Given the description of an element on the screen output the (x, y) to click on. 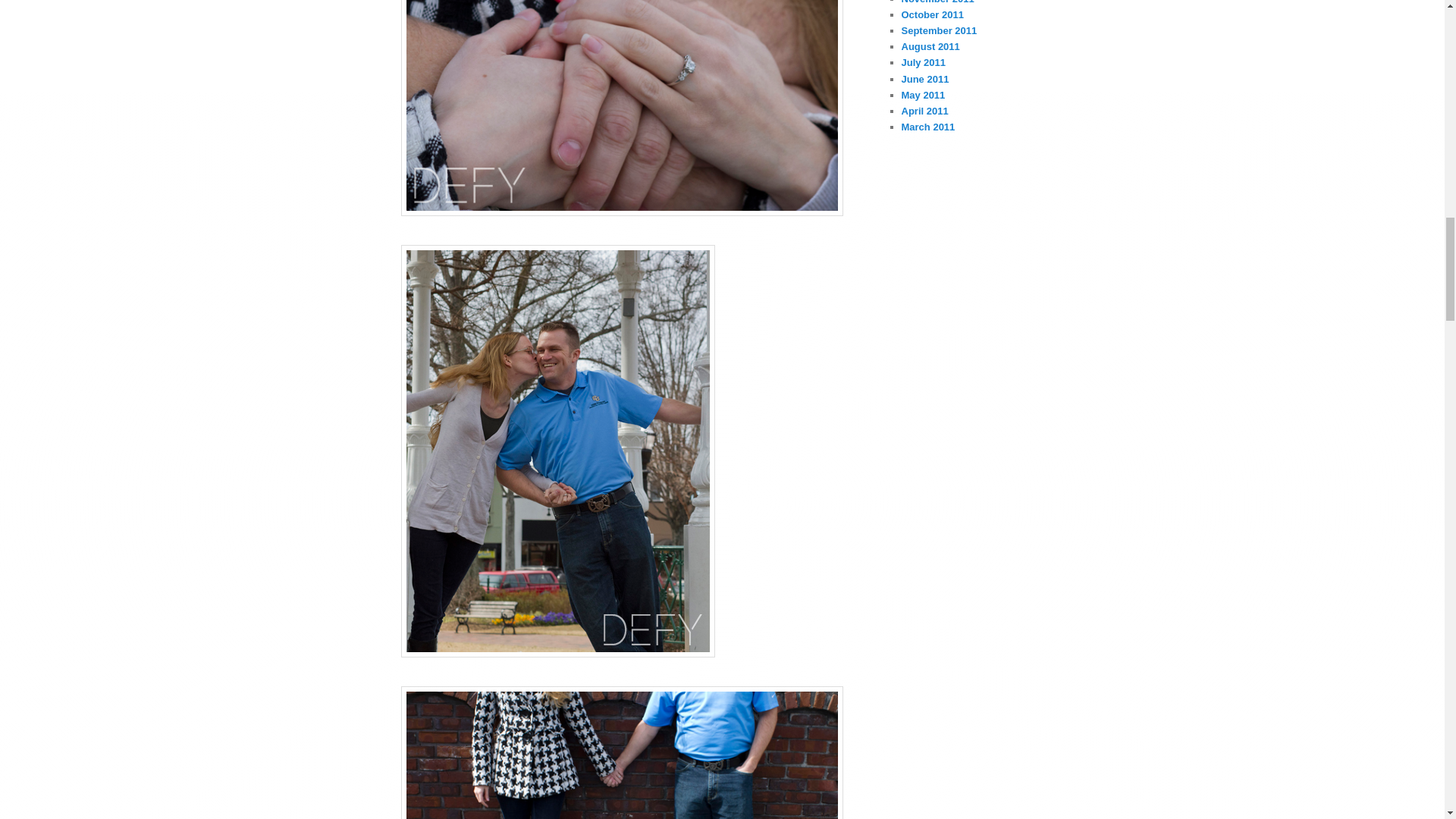
handing hands for life (621, 752)
I am loved ring and hands (621, 108)
